Given the description of an element on the screen output the (x, y) to click on. 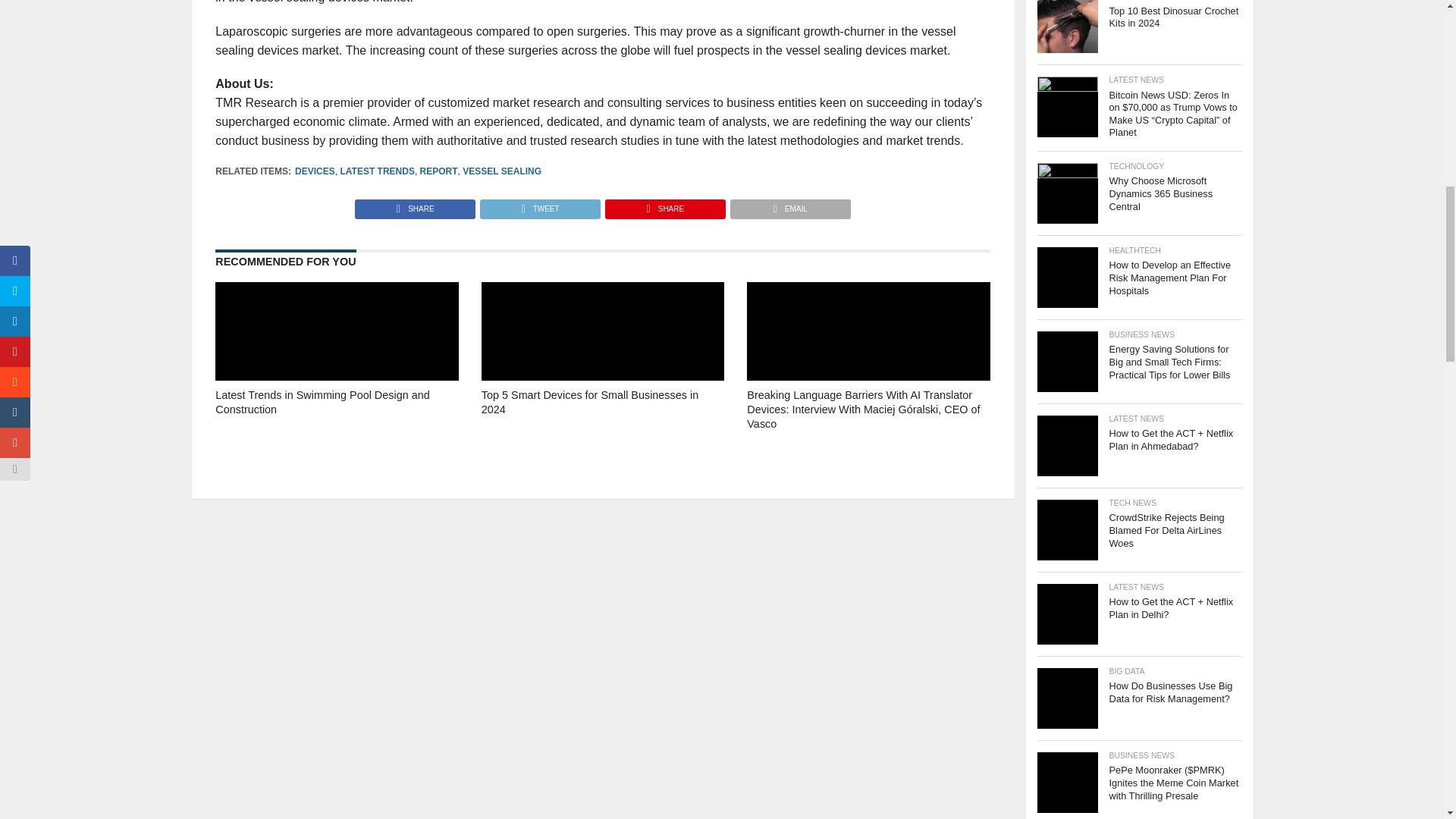
Share on Facebook (415, 205)
Tweet This Post (539, 205)
Pin This Post (664, 205)
Top 5 Smart Devices for Small Businesses in 2024 (602, 422)
Latest Trends in Swimming Pool Design and Construction (336, 422)
